Given the description of an element on the screen output the (x, y) to click on. 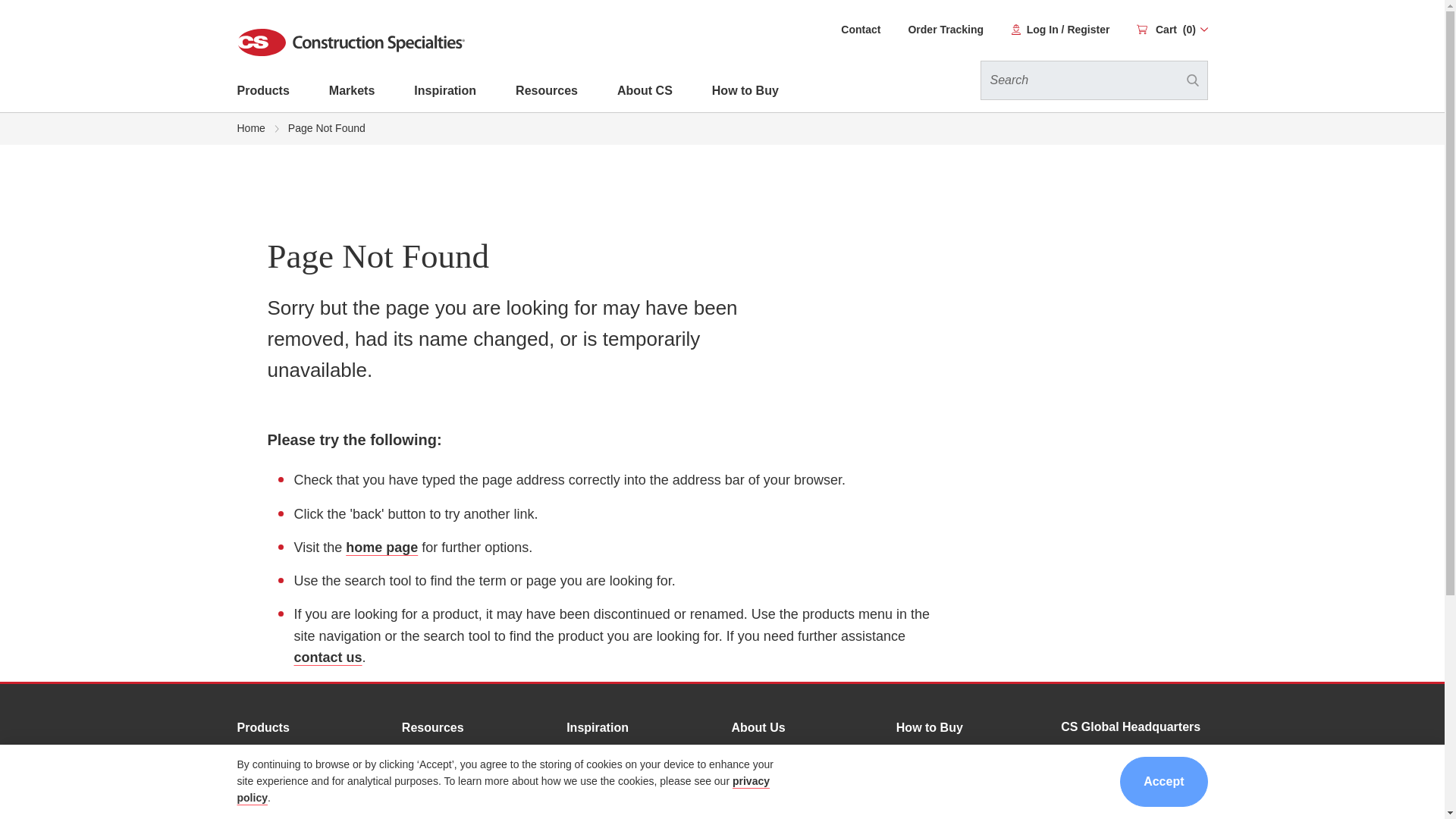
Submit (1191, 80)
Order Tracking (945, 30)
Products (261, 93)
Contact (860, 30)
